Given the description of an element on the screen output the (x, y) to click on. 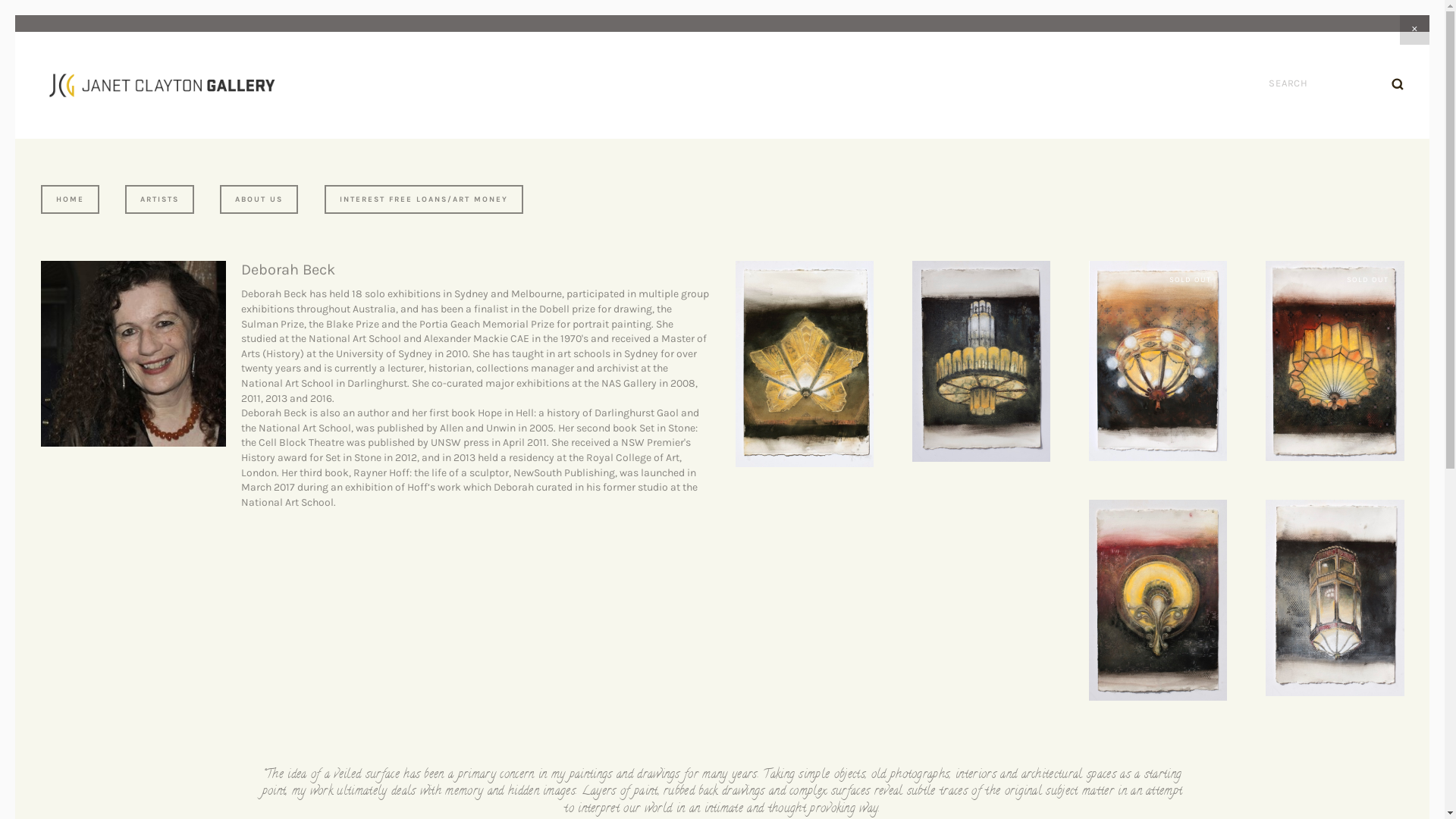
Deborah Beck Element type: text (288, 269)
SOLD OUT Element type: text (1333, 361)
INTEREST FREE LOANS/ART MONEY Element type: text (423, 199)
ARTISTS Element type: text (159, 199)
ABOUT US Element type: text (258, 199)
SOLD OUT Element type: text (1157, 360)
HOME Element type: text (69, 199)
